Given the description of an element on the screen output the (x, y) to click on. 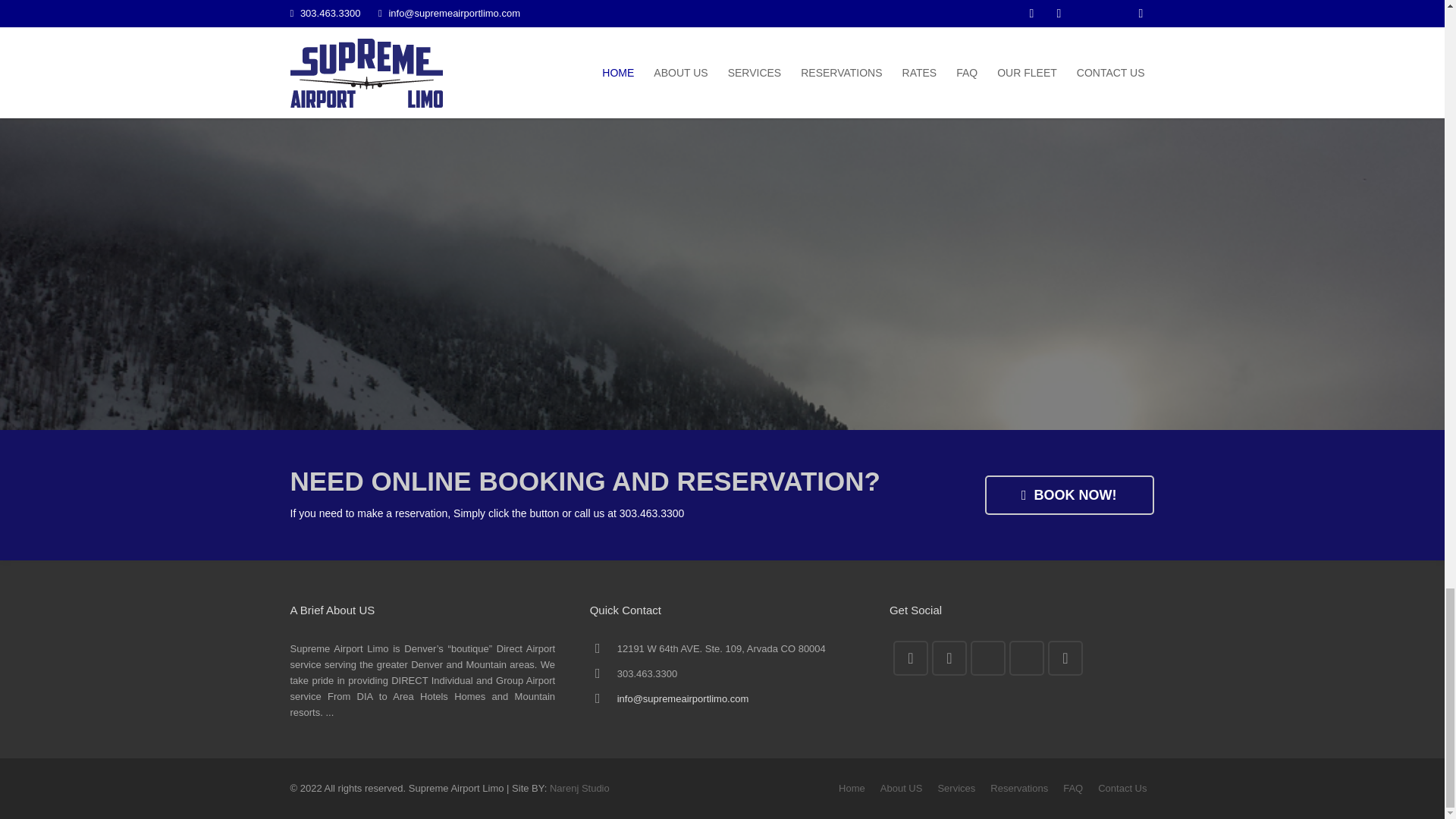
Contact Us (1122, 787)
Narenj Studio (580, 787)
FAQ (1072, 787)
About US (901, 787)
Services (956, 787)
Reservations (1019, 787)
BOOK NOW! (1069, 495)
Home (851, 787)
